Given the description of an element on the screen output the (x, y) to click on. 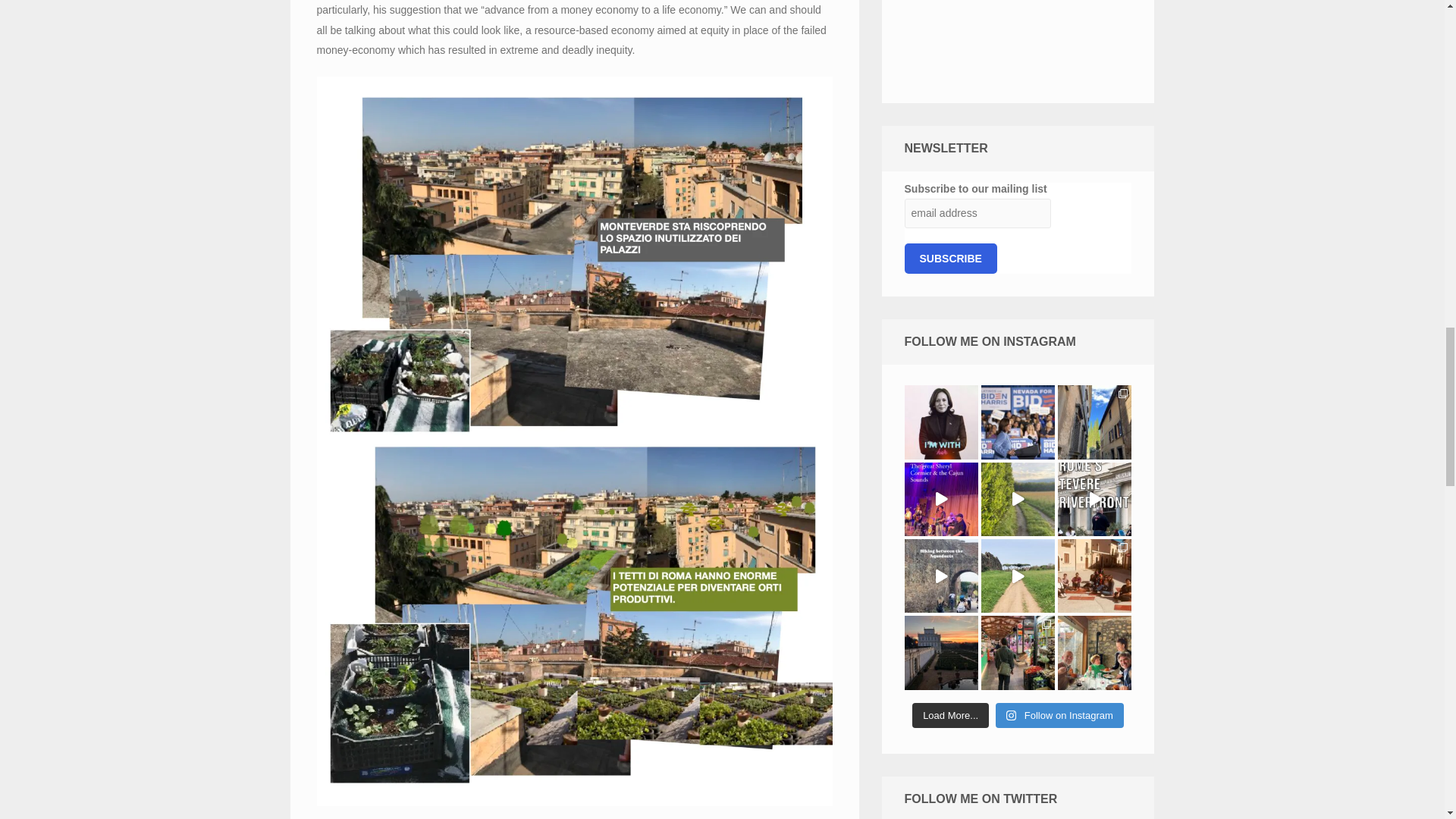
Subscribe (949, 258)
